Given the description of an element on the screen output the (x, y) to click on. 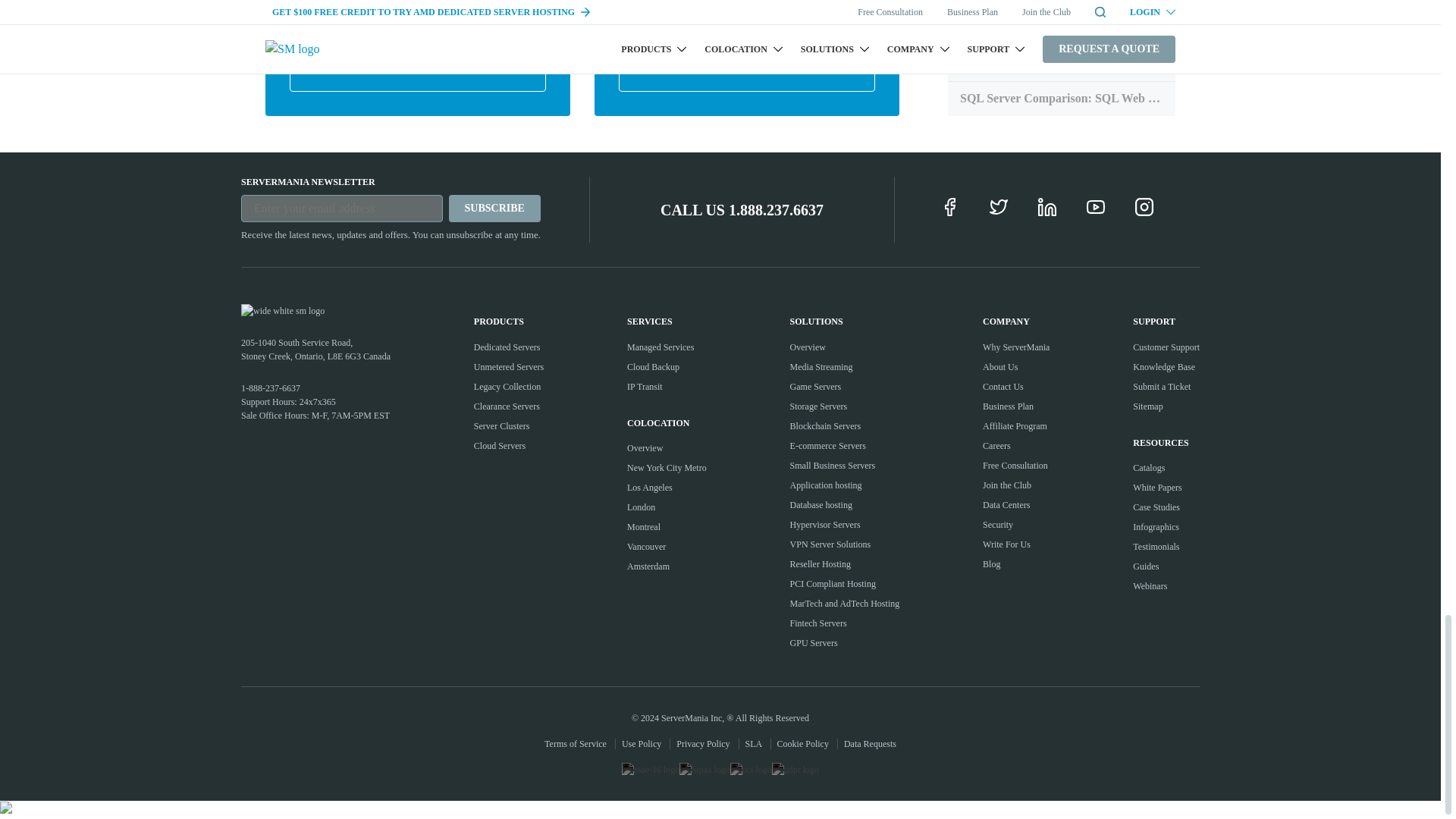
Subscribe (494, 207)
